Given the description of an element on the screen output the (x, y) to click on. 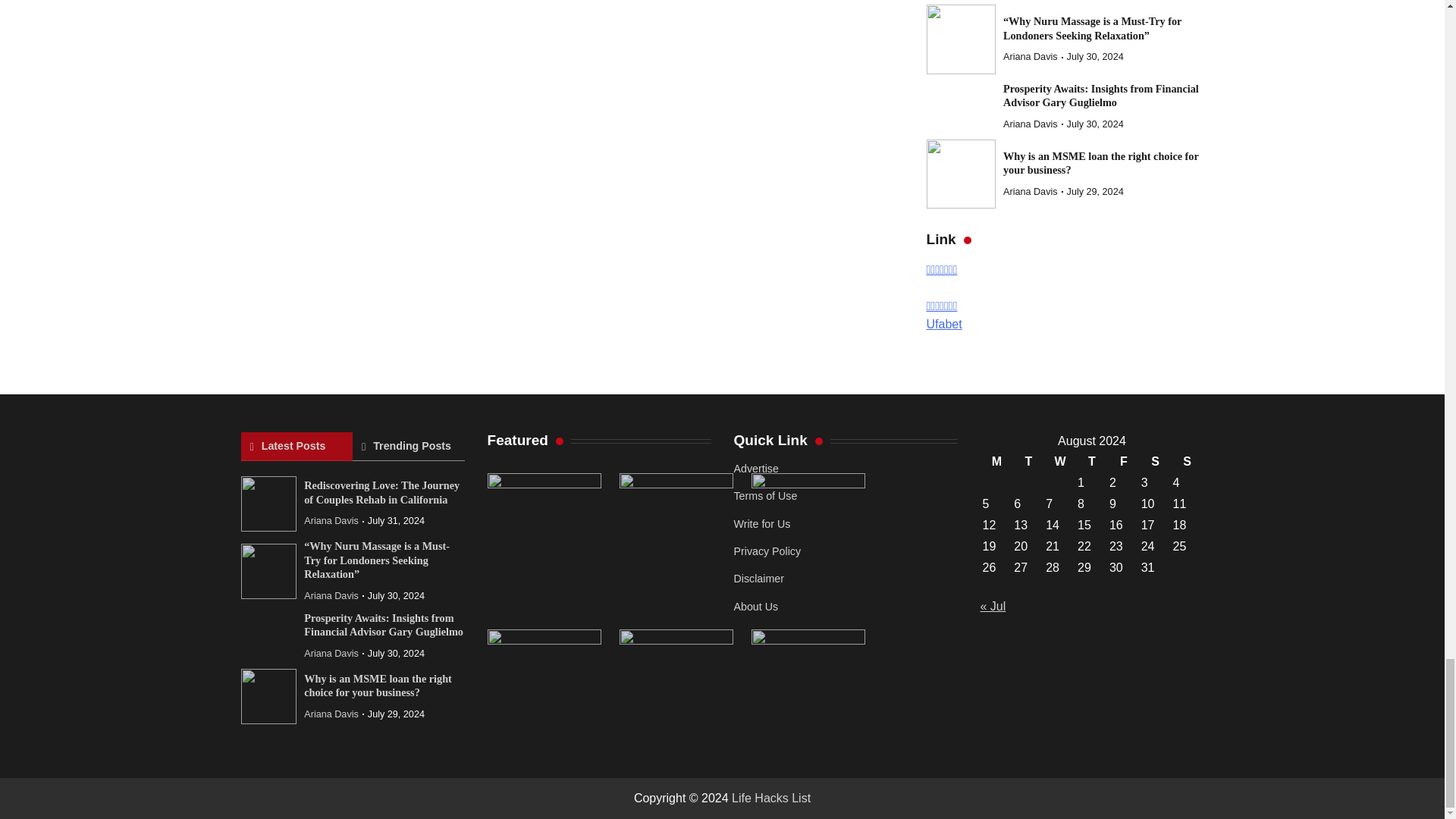
Friday (1123, 461)
Wednesday (1060, 461)
Thursday (1091, 461)
Saturday (1155, 461)
Sunday (1187, 461)
Monday (996, 461)
Tuesday (1028, 461)
